Given the description of an element on the screen output the (x, y) to click on. 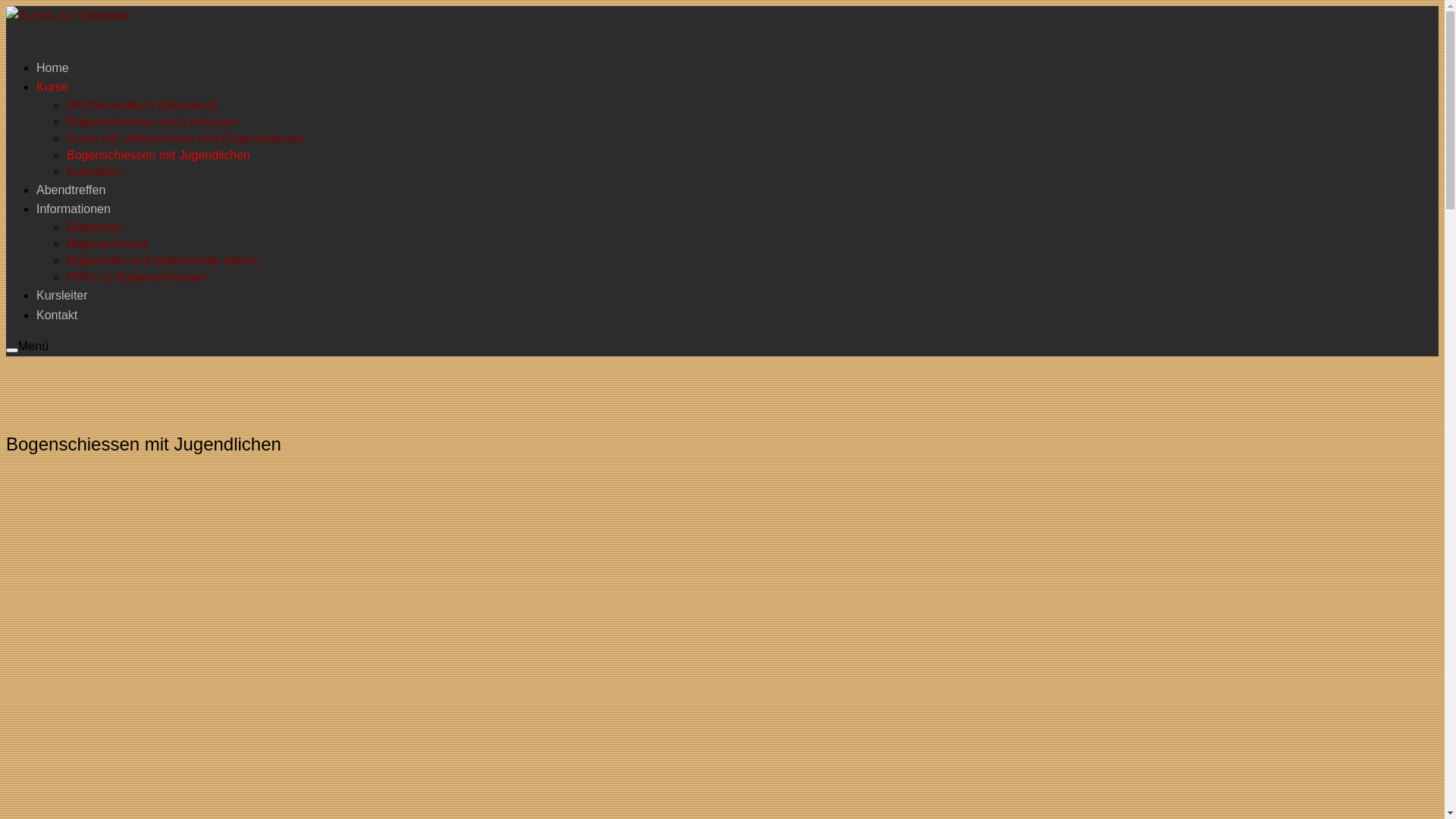
Bogenschiessen und Loslassen Element type: text (151, 121)
Bogenschiessen mit Jugendlichen Element type: text (158, 154)
Skip to content Element type: text (5, 5)
Abendtreffen Element type: text (70, 189)
Bogenparcours Element type: text (107, 243)
Kurse Element type: text (52, 86)
Kursleiter Element type: text (61, 294)
Bogenlinks und Interessante Seiten Element type: text (161, 260)
PDFs zu Bogenschiessen Element type: text (135, 276)
Informationen Element type: text (73, 208)
Kurse mit Unternehmen und Organisationen Element type: text (185, 137)
Wochenendkurs (Basiskurs) Element type: text (142, 104)
Home Element type: text (52, 67)
Kontakt Element type: text (56, 314)
Bogenbau Element type: text (94, 226)
Kursdaten Element type: text (94, 171)
